Given the description of an element on the screen output the (x, y) to click on. 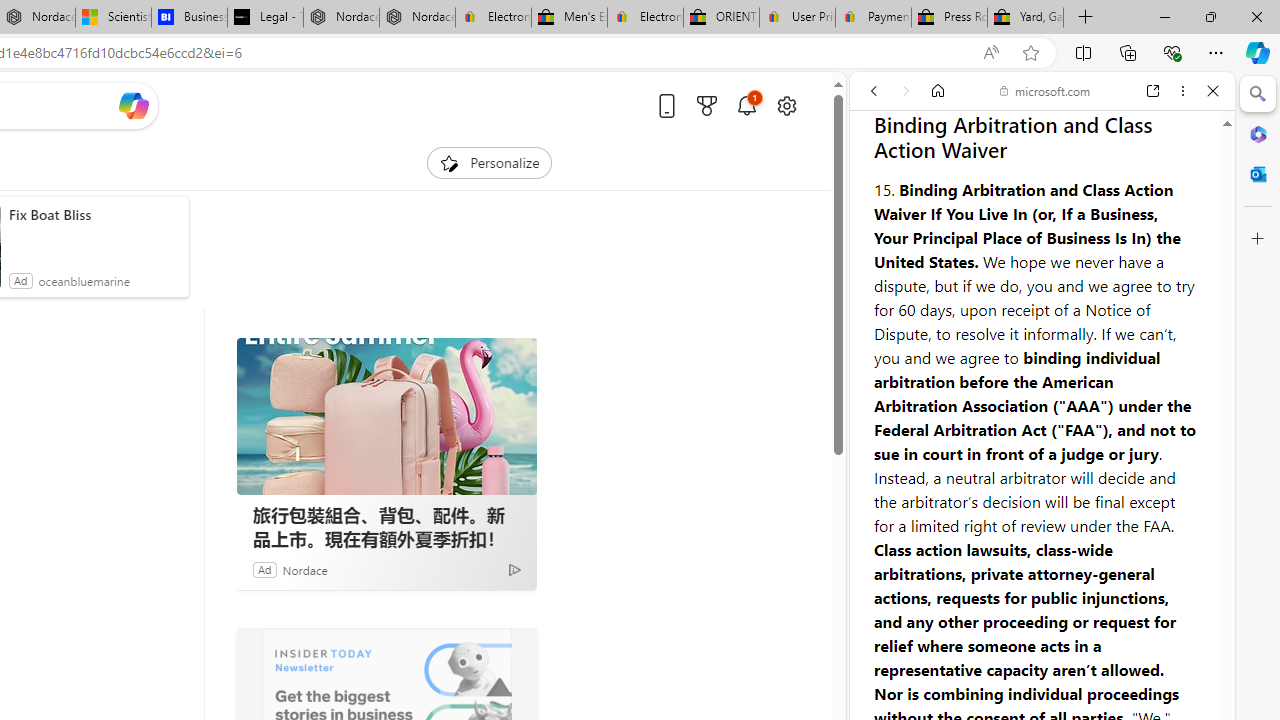
Payments Terms of Use | eBay.com (873, 17)
